Given the description of an element on the screen output the (x, y) to click on. 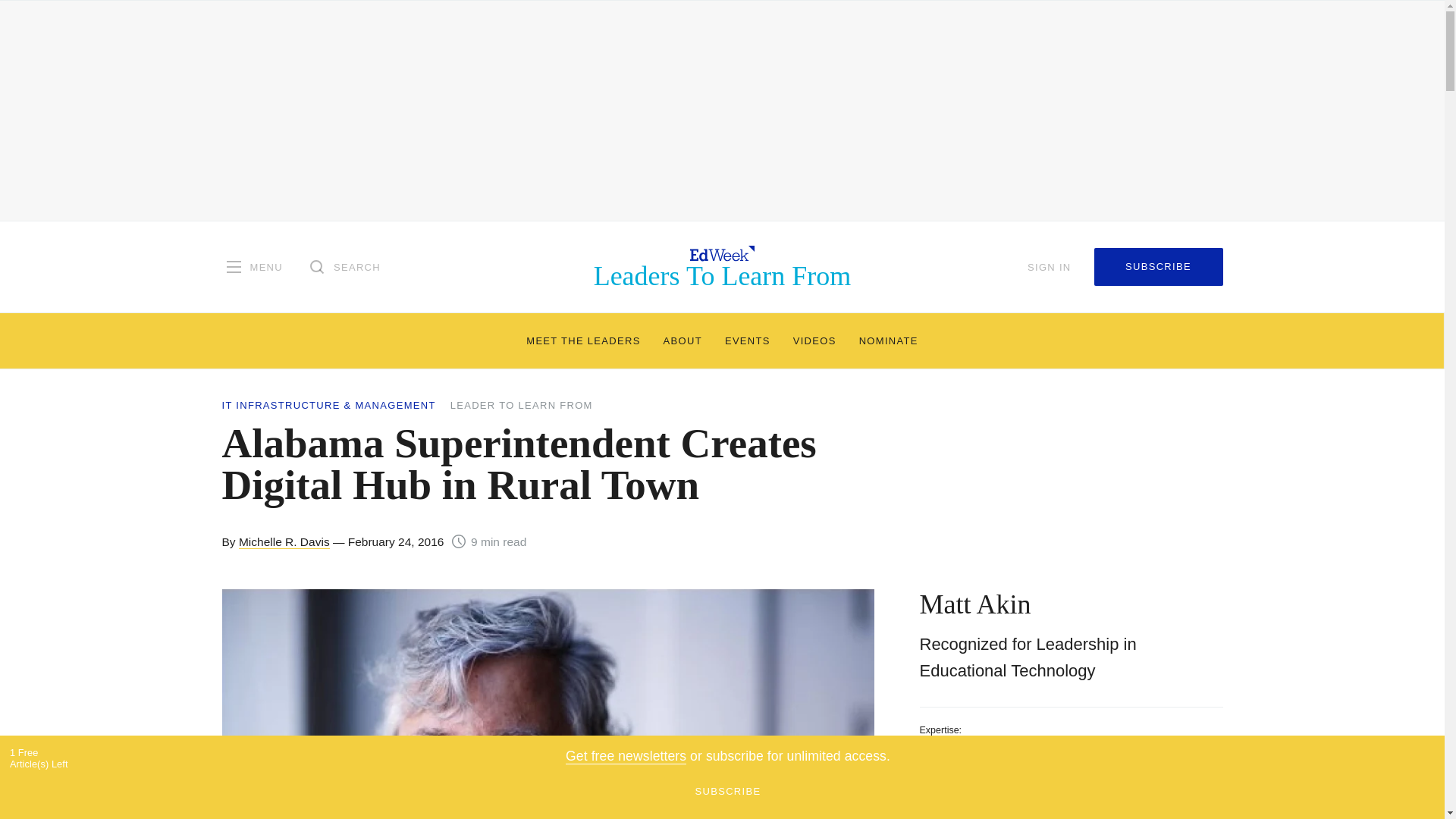
Homepage (722, 266)
